Given the description of an element on the screen output the (x, y) to click on. 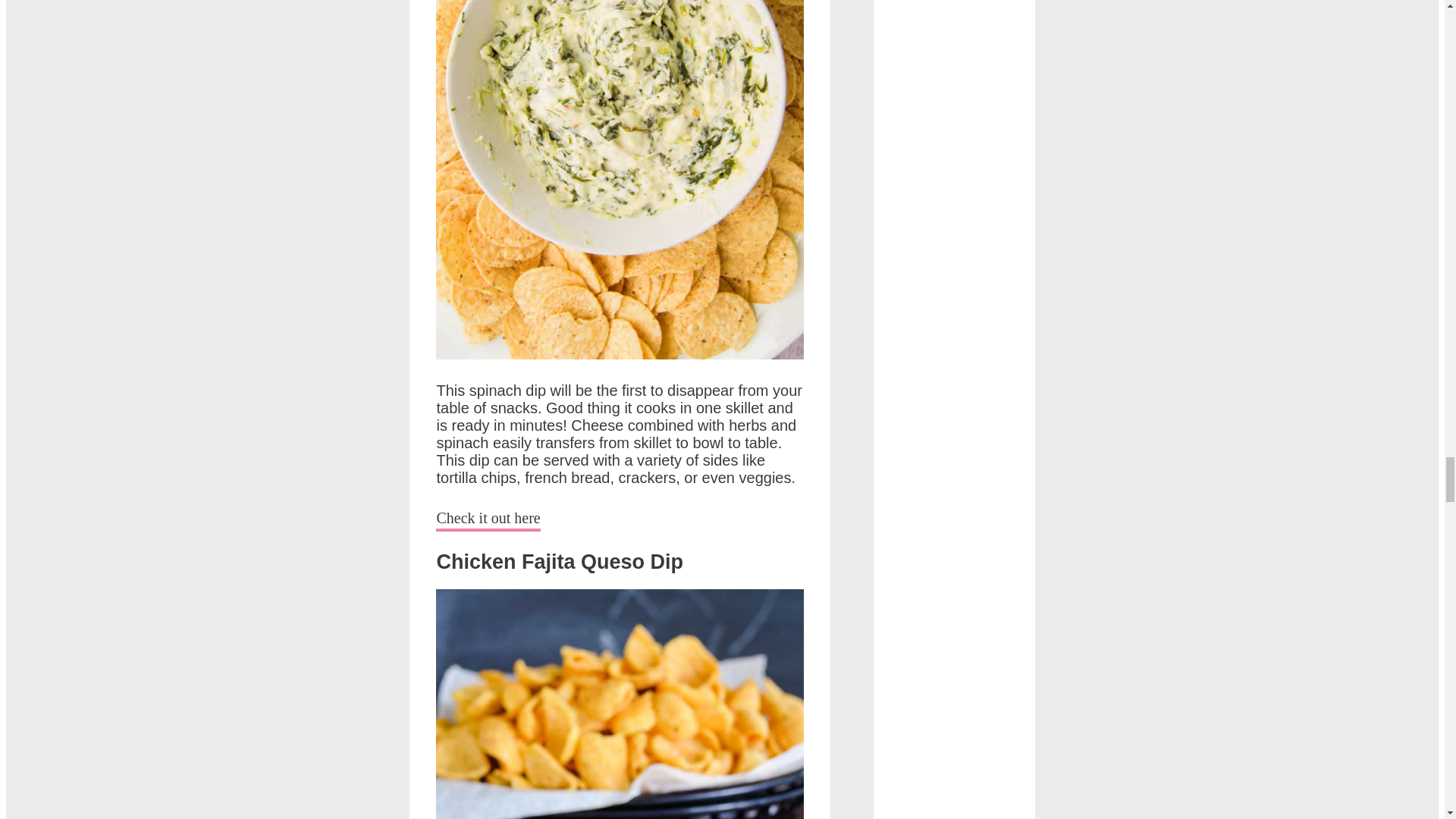
Check it out here (487, 520)
